Given the description of an element on the screen output the (x, y) to click on. 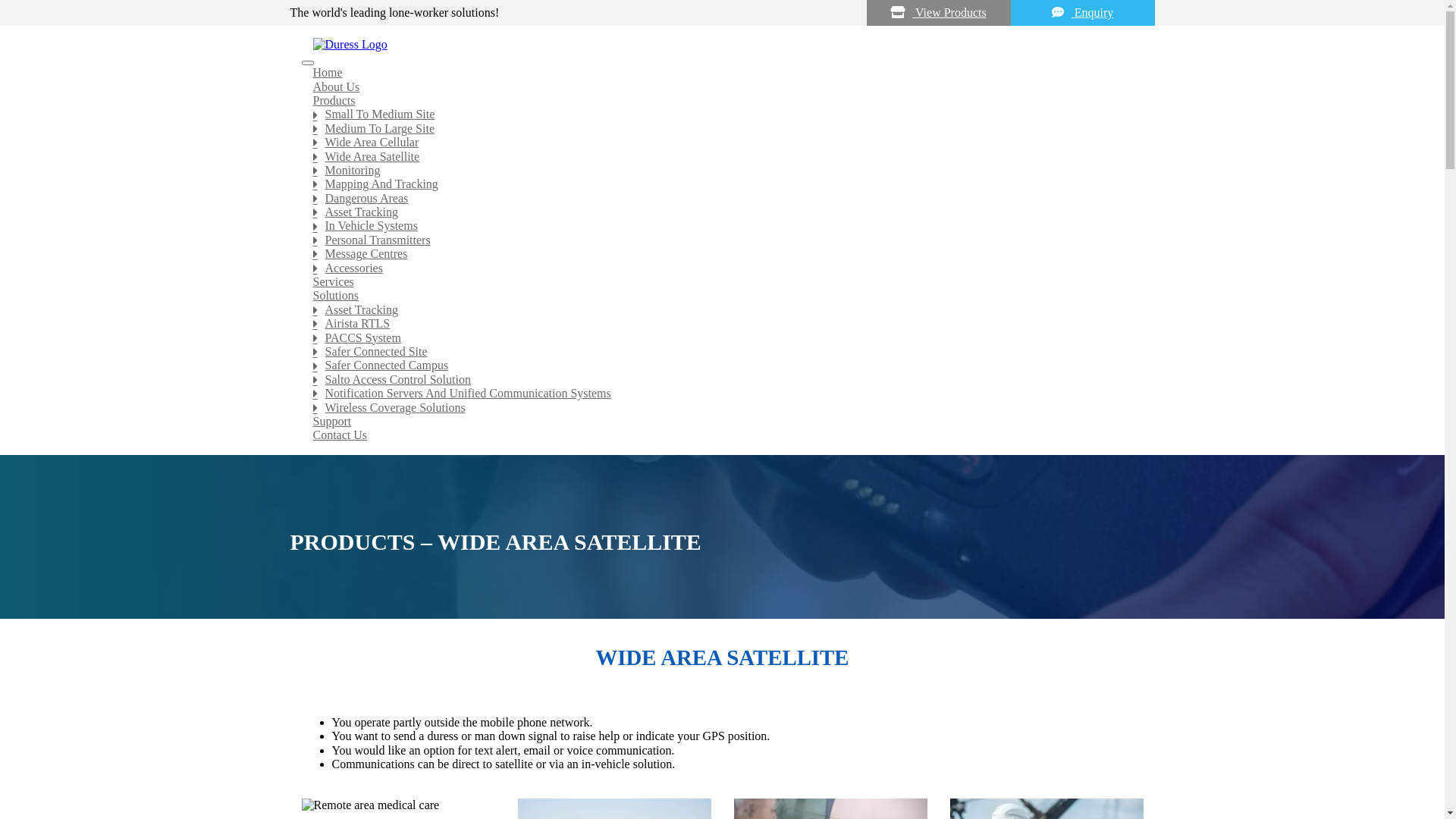
Home Element type: text (616, 72)
View Products Element type: text (938, 12)
Dangerous Areas Element type: text (616, 198)
Airista RTLS Element type: text (616, 323)
Monitoring Element type: text (616, 170)
Safer Connected Site Element type: text (616, 351)
Salto Access Control Solution Element type: text (616, 379)
Wireless Coverage Solutions Element type: text (616, 407)
Support Element type: text (616, 421)
Mapping And Tracking Element type: text (616, 184)
Wide Area Satellite Element type: text (616, 156)
Enquiry Element type: text (1082, 12)
Asset Tracking Element type: text (616, 212)
In Vehicle Systems Element type: text (616, 225)
Services Element type: text (616, 281)
Wide Area Cellular Element type: text (616, 142)
Small To Medium Site Element type: text (616, 114)
Contact Us Element type: text (616, 435)
Personal Transmitters Element type: text (616, 240)
Asset Tracking Element type: text (616, 309)
Solutions Element type: text (616, 295)
About Us Element type: text (616, 87)
Products Element type: text (616, 100)
Safer Connected Campus Element type: text (616, 365)
Accessories Element type: text (616, 268)
PACCS System Element type: text (616, 338)
Medium To Large Site Element type: text (616, 128)
Notification Servers And Unified Communication Systems Element type: text (616, 393)
Message Centres Element type: text (616, 253)
